Given the description of an element on the screen output the (x, y) to click on. 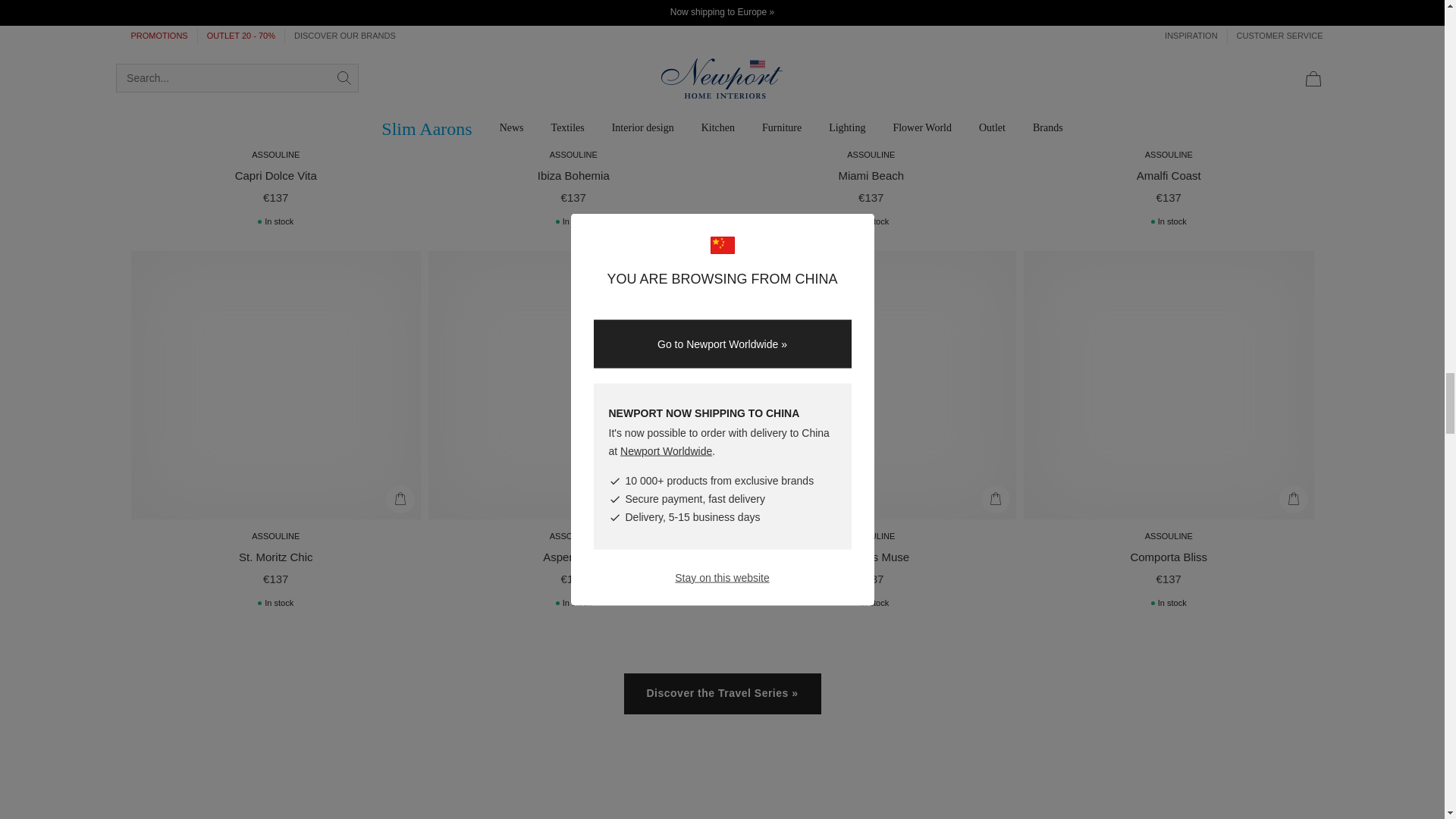
Ibiza Bohemia (573, 175)
Aspen Style (573, 556)
Mykonos Muse (870, 556)
Capri Dolce Vita (275, 175)
Amalfi Coast (1169, 175)
St. Moritz Chic (275, 556)
Miami Beach (871, 175)
Comporta Bliss (1168, 556)
